Given the description of an element on the screen output the (x, y) to click on. 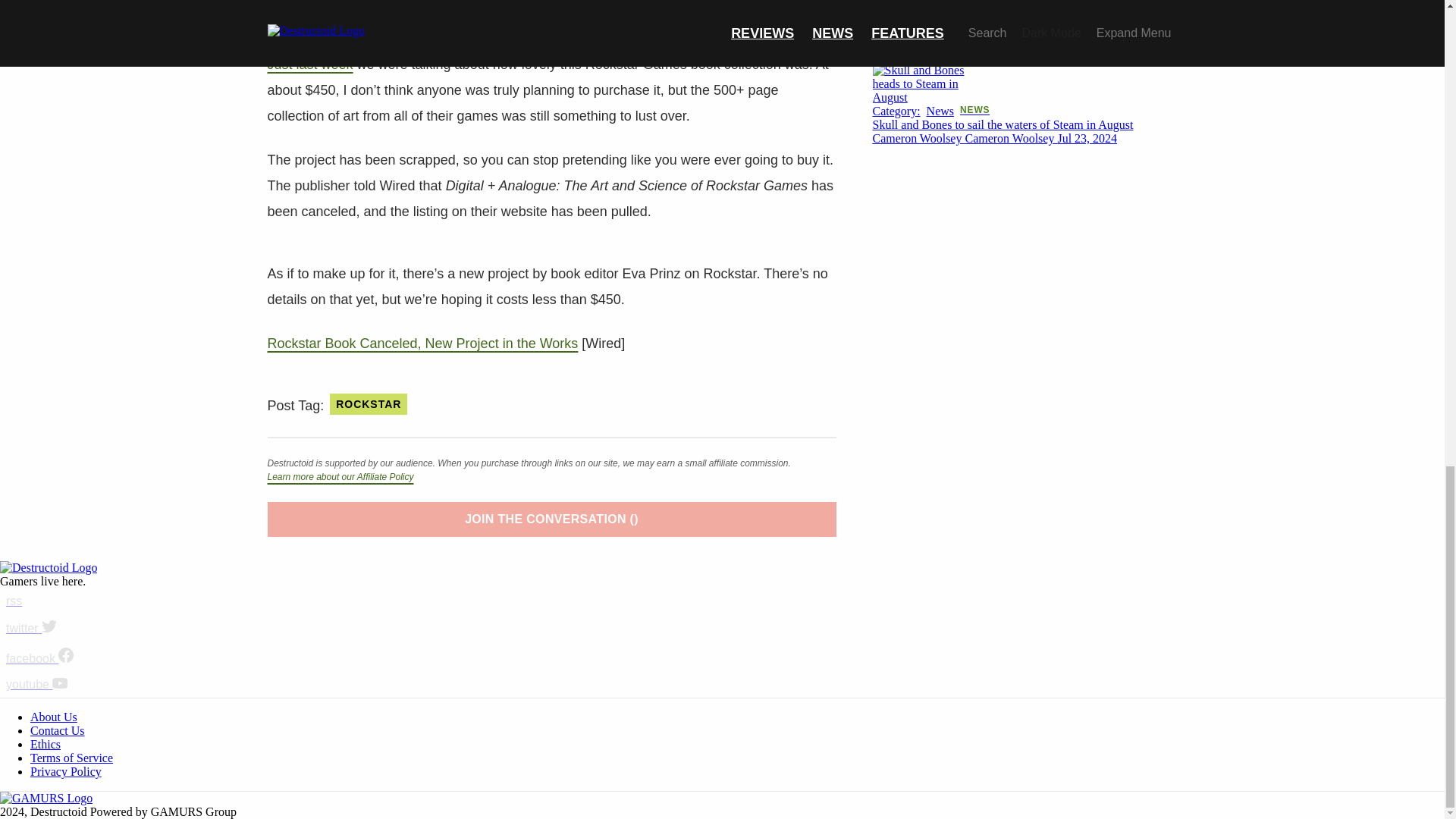
Rockstar Book Canceled, New Project in the Works (422, 343)
Just last week (309, 64)
